Given the description of an element on the screen output the (x, y) to click on. 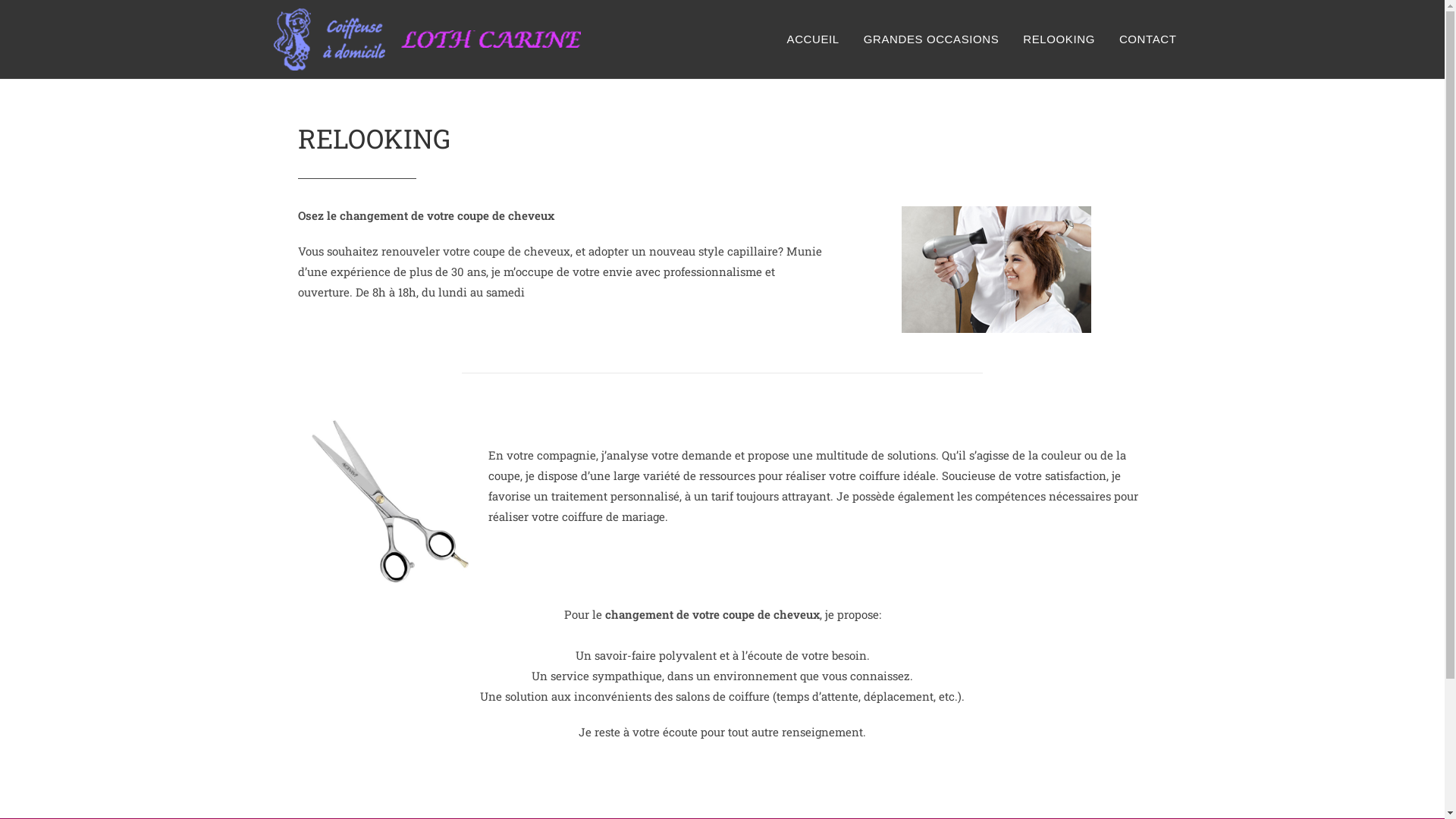
CONTACT Element type: text (1148, 39)
ACCUEIL Element type: text (813, 39)
RELOOKING Element type: text (1058, 39)
GRANDES OCCASIONS Element type: text (931, 39)
